Given the description of an element on the screen output the (x, y) to click on. 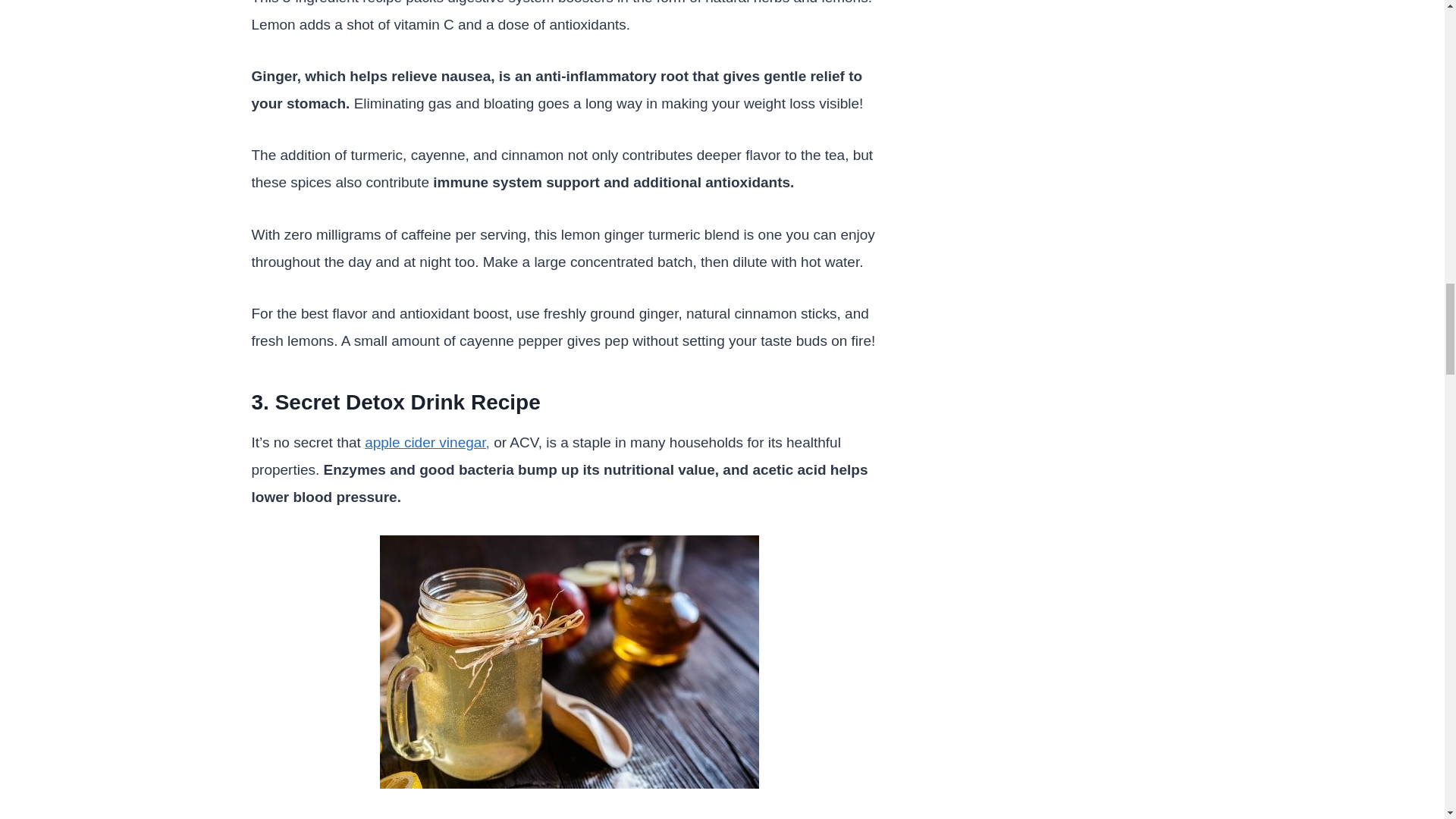
apple cider vinegar, (427, 442)
detox tea recipe for weight loss with apple cider vinegar (569, 661)
